Given the description of an element on the screen output the (x, y) to click on. 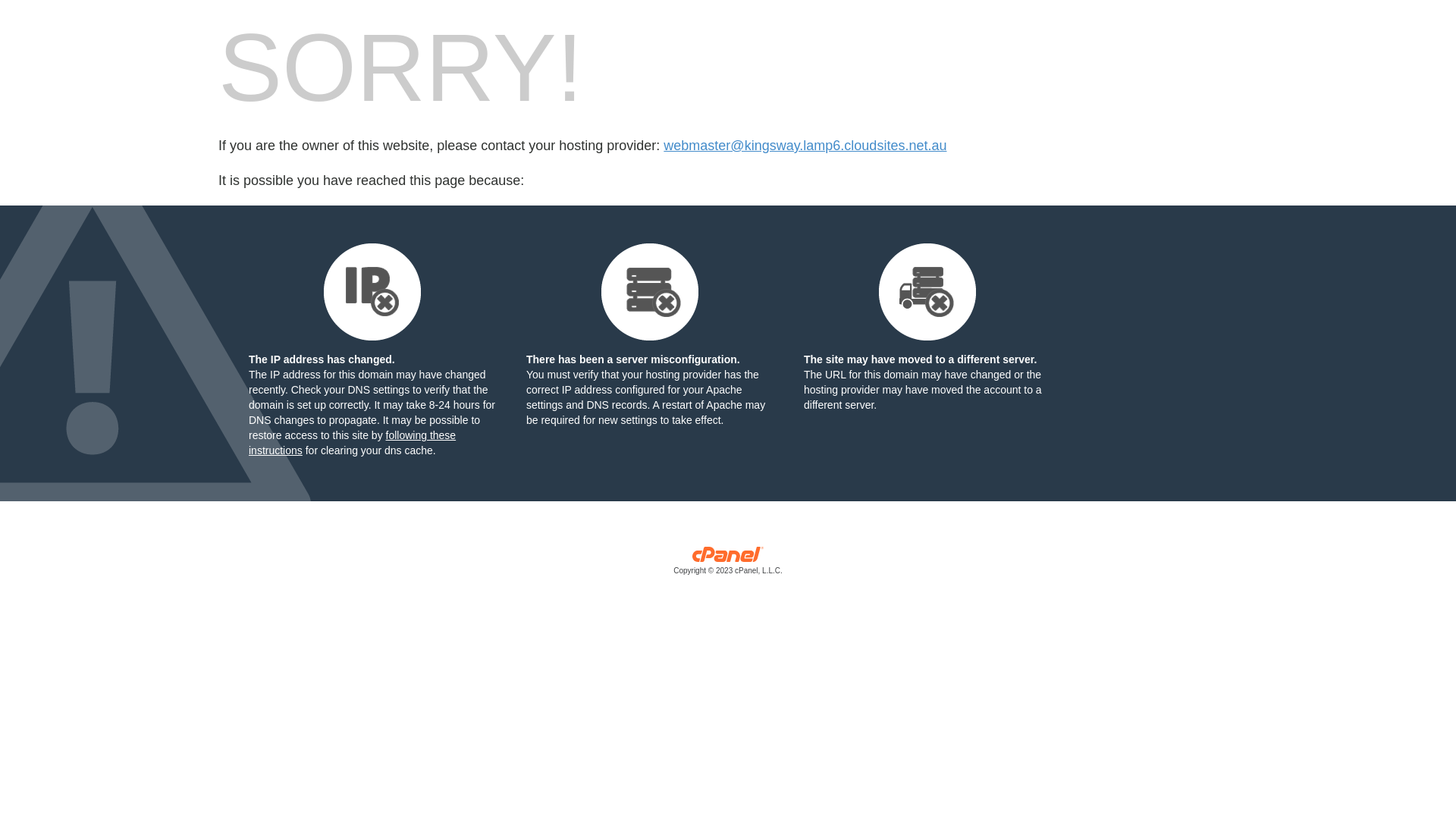
webmaster@kingsway.lamp6.cloudsites.net.au Element type: text (804, 145)
following these instructions Element type: text (351, 442)
